Given the description of an element on the screen output the (x, y) to click on. 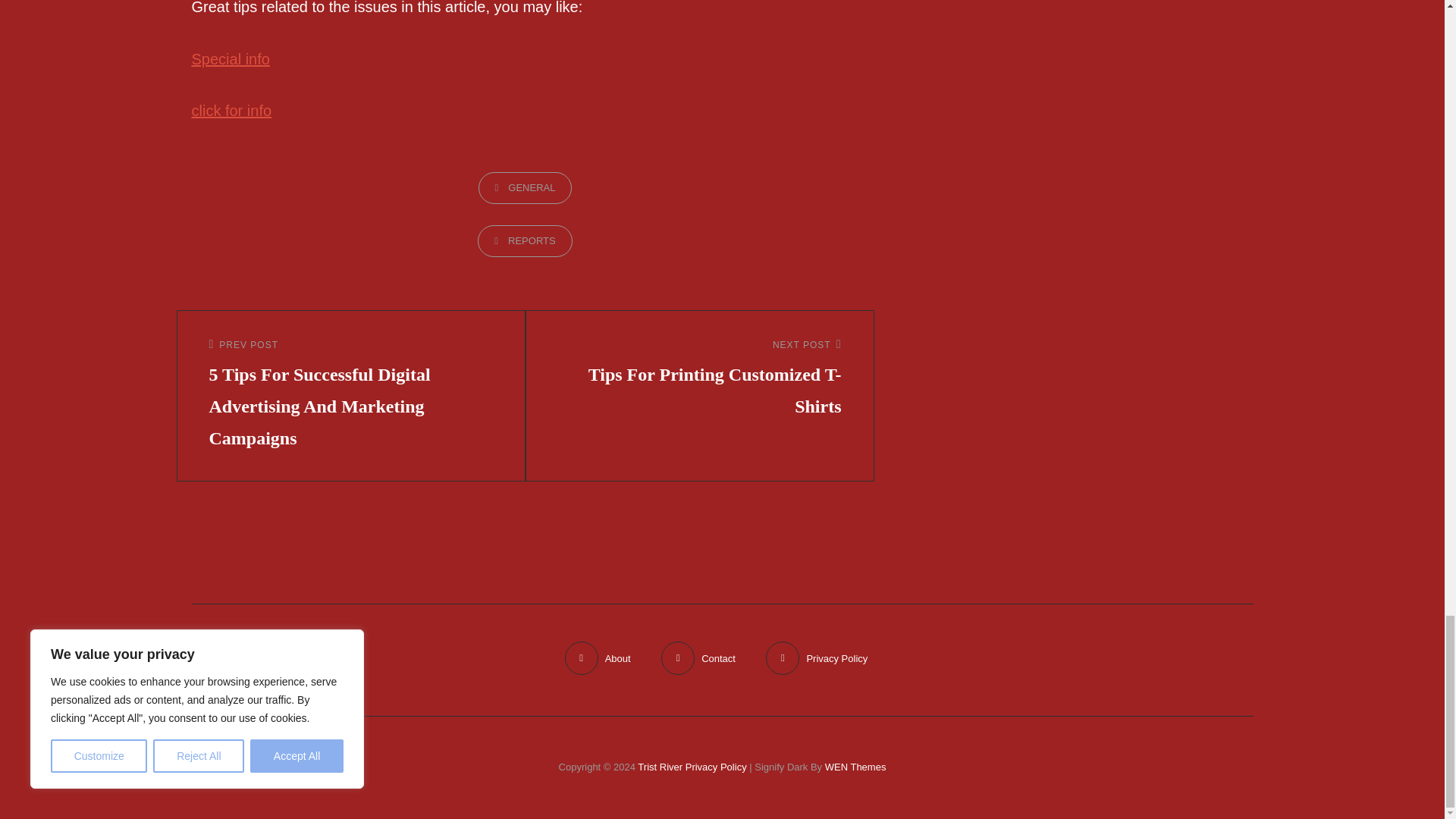
REPORTS (524, 241)
GENERAL (525, 187)
Special info (699, 379)
click for info (229, 58)
